Given the description of an element on the screen output the (x, y) to click on. 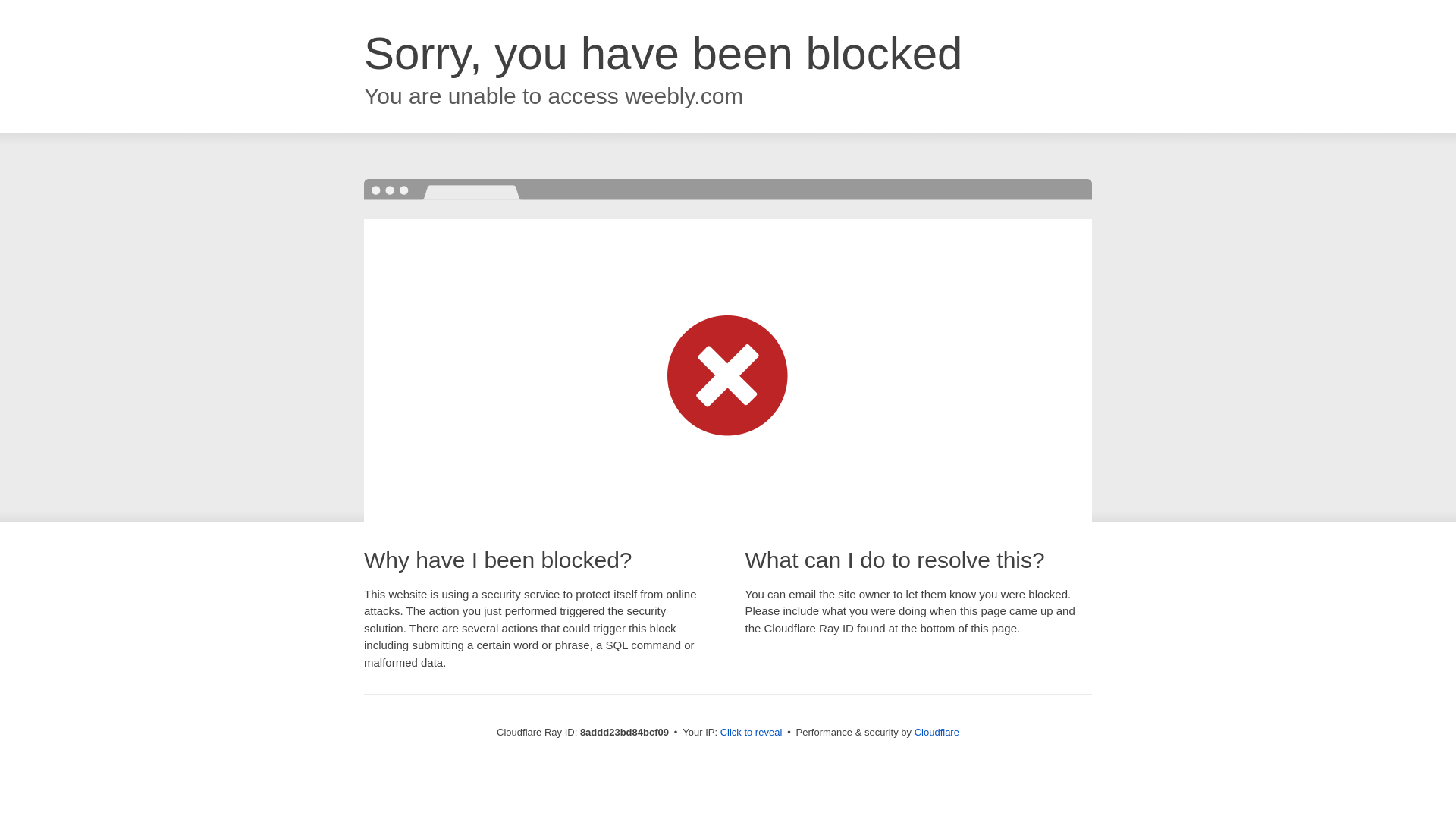
Click to reveal (751, 732)
Cloudflare (936, 731)
